Given the description of an element on the screen output the (x, y) to click on. 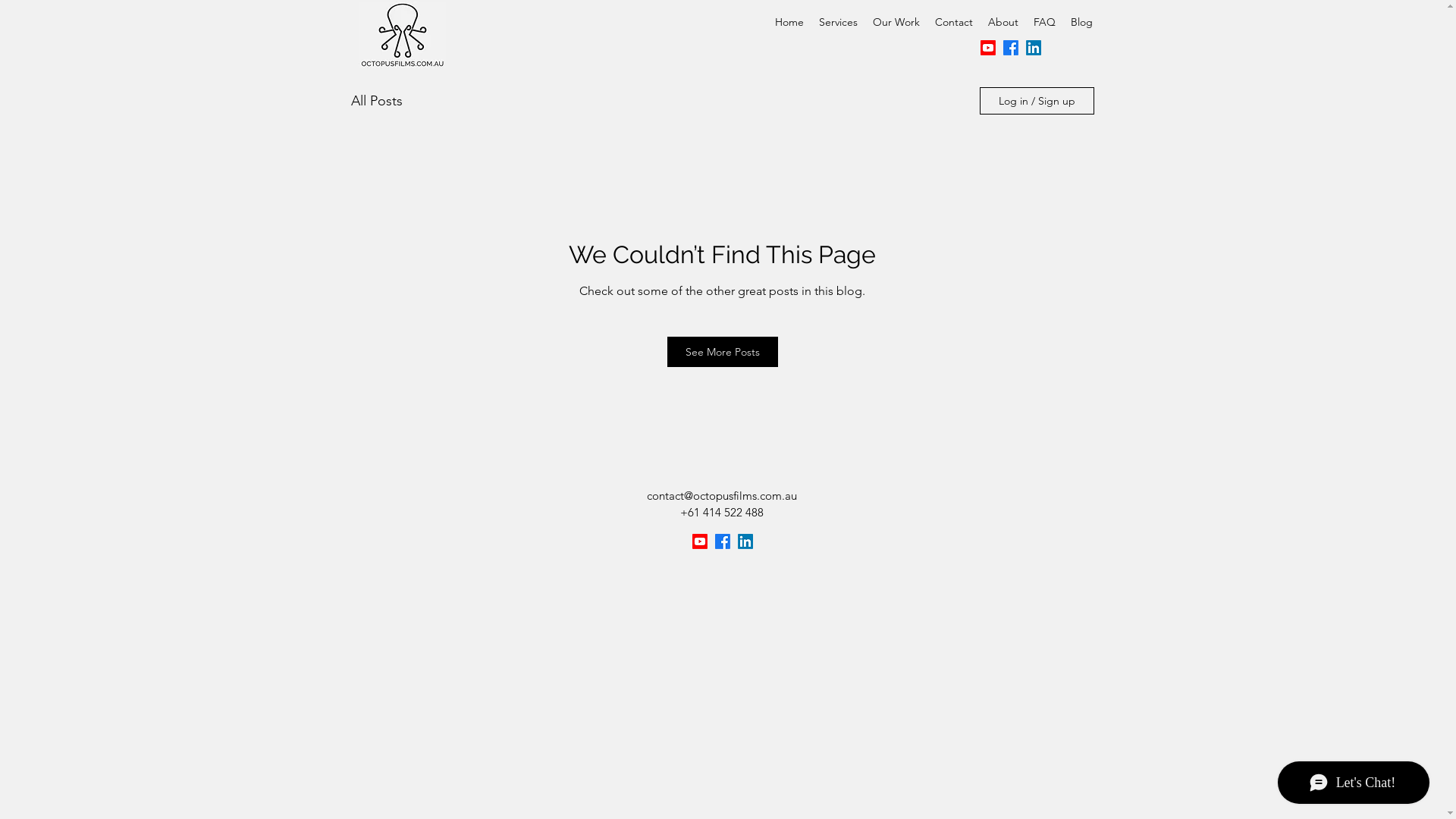
contact@octopusfilms.com.au Element type: text (721, 495)
Blog Element type: text (1081, 21)
Log in / Sign up Element type: text (1036, 100)
Our Work Element type: text (895, 21)
See More Posts Element type: text (722, 351)
FAQ Element type: text (1043, 21)
All Posts Element type: text (375, 100)
Home Element type: text (789, 21)
Services Element type: text (838, 21)
About Element type: text (1002, 21)
Contact Element type: text (952, 21)
